Given the description of an element on the screen output the (x, y) to click on. 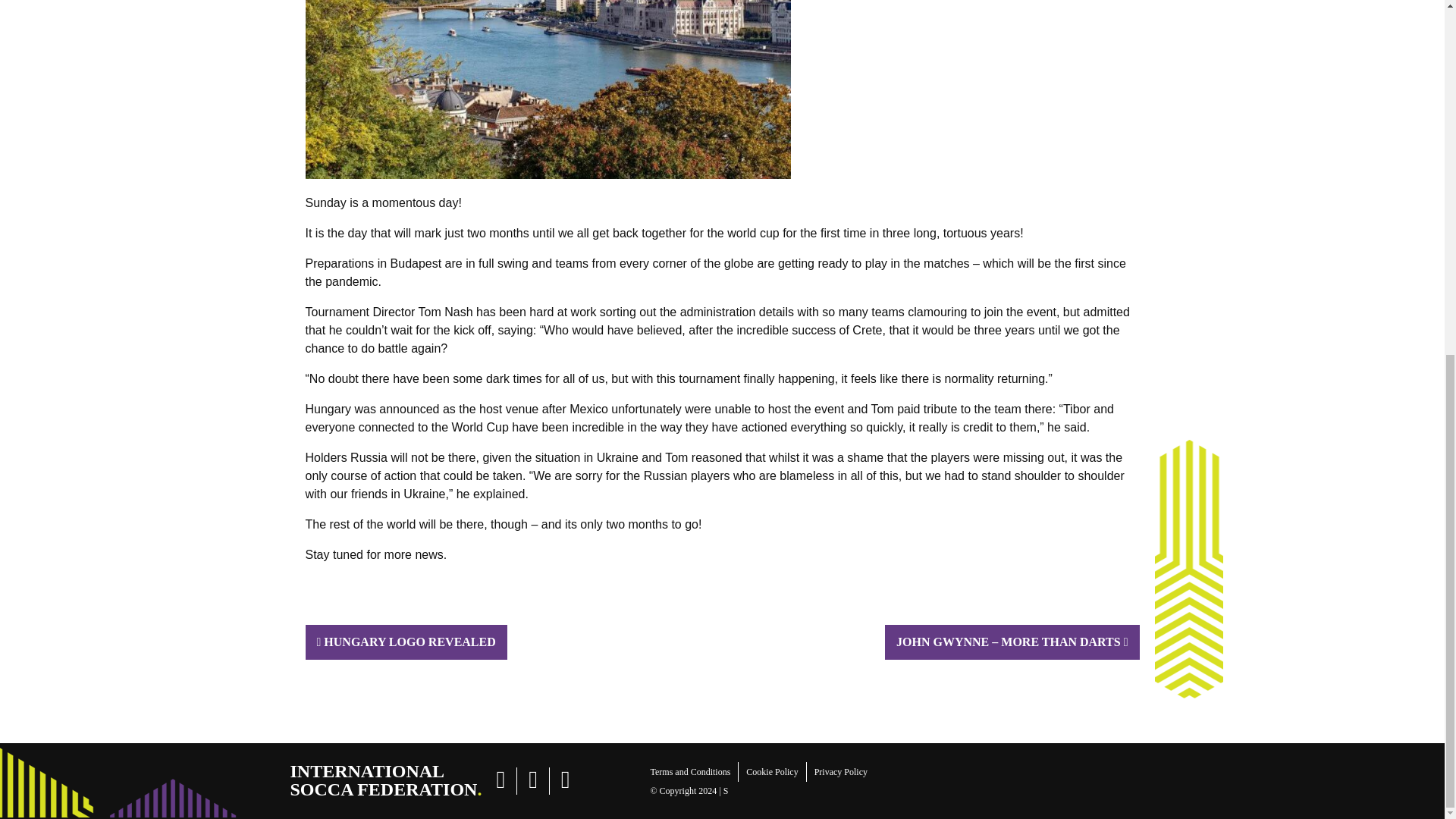
 HUNGARY LOGO REVEALED (383, 780)
